Given the description of an element on the screen output the (x, y) to click on. 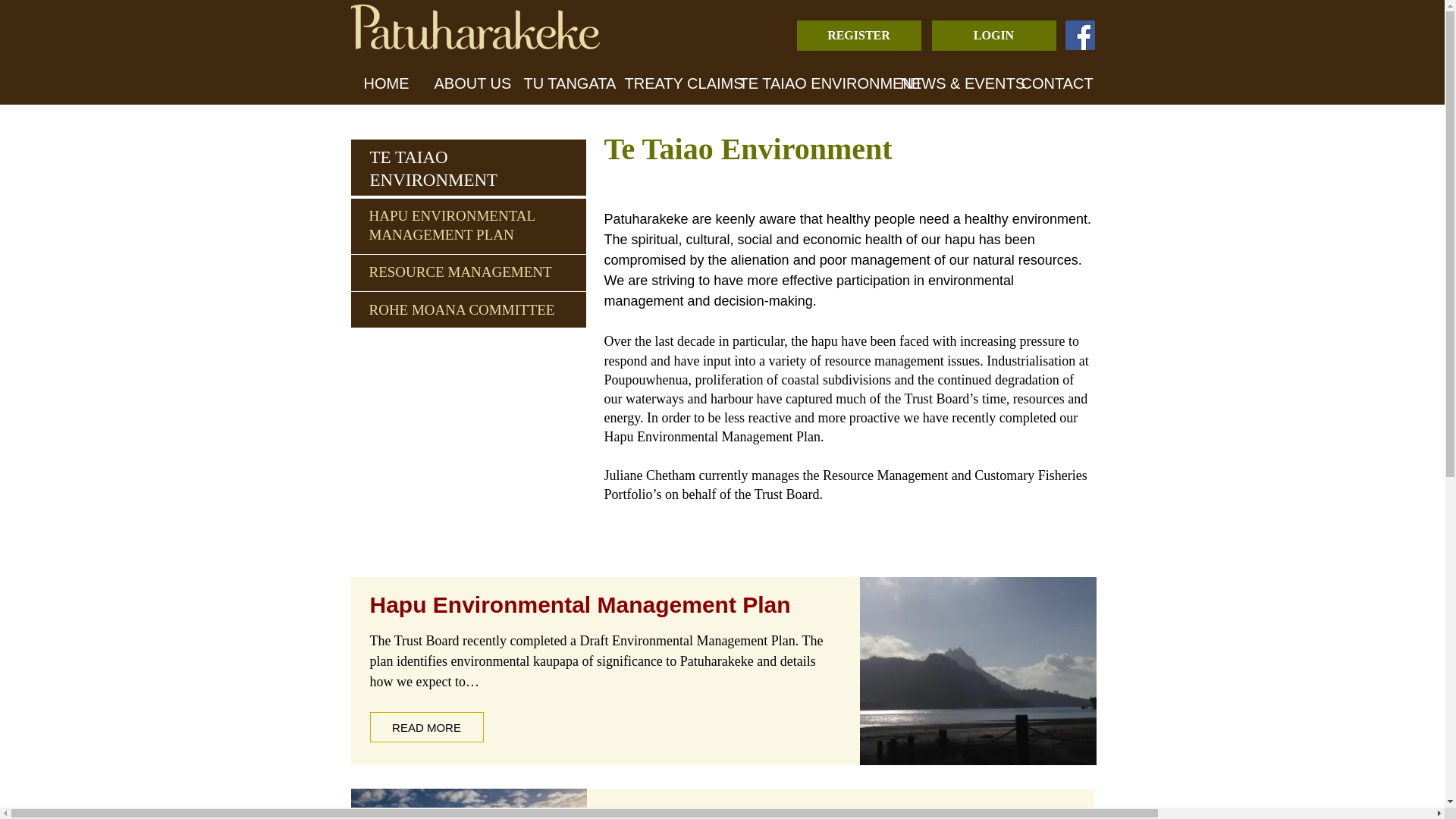
TE TAIAO ENVIRONMENT (807, 83)
HOME (386, 83)
TREATY CLAIMS (669, 83)
LOGIN (993, 35)
ROHE MOANA COMMITTEE (467, 132)
REGISTER (858, 35)
TU TANGATA (561, 83)
TE TAIAO ENVIRONMENT (433, 168)
ABOUT US (466, 83)
READ MORE (426, 726)
